Given the description of an element on the screen output the (x, y) to click on. 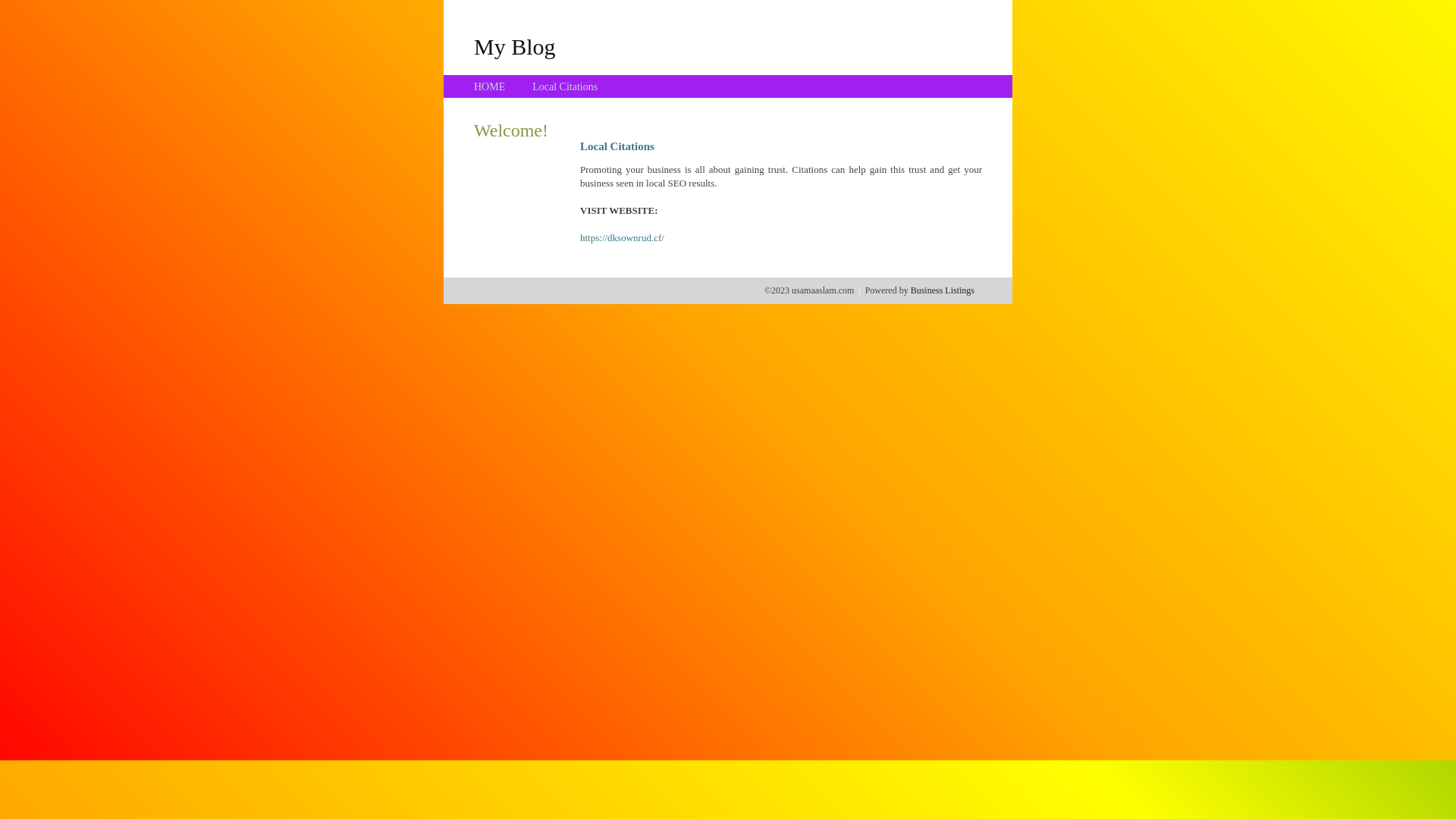
https://dksownrud.cf/ Element type: text (622, 237)
Local Citations Element type: text (564, 86)
My Blog Element type: text (514, 46)
Business Listings Element type: text (942, 290)
HOME Element type: text (489, 86)
